Given the description of an element on the screen output the (x, y) to click on. 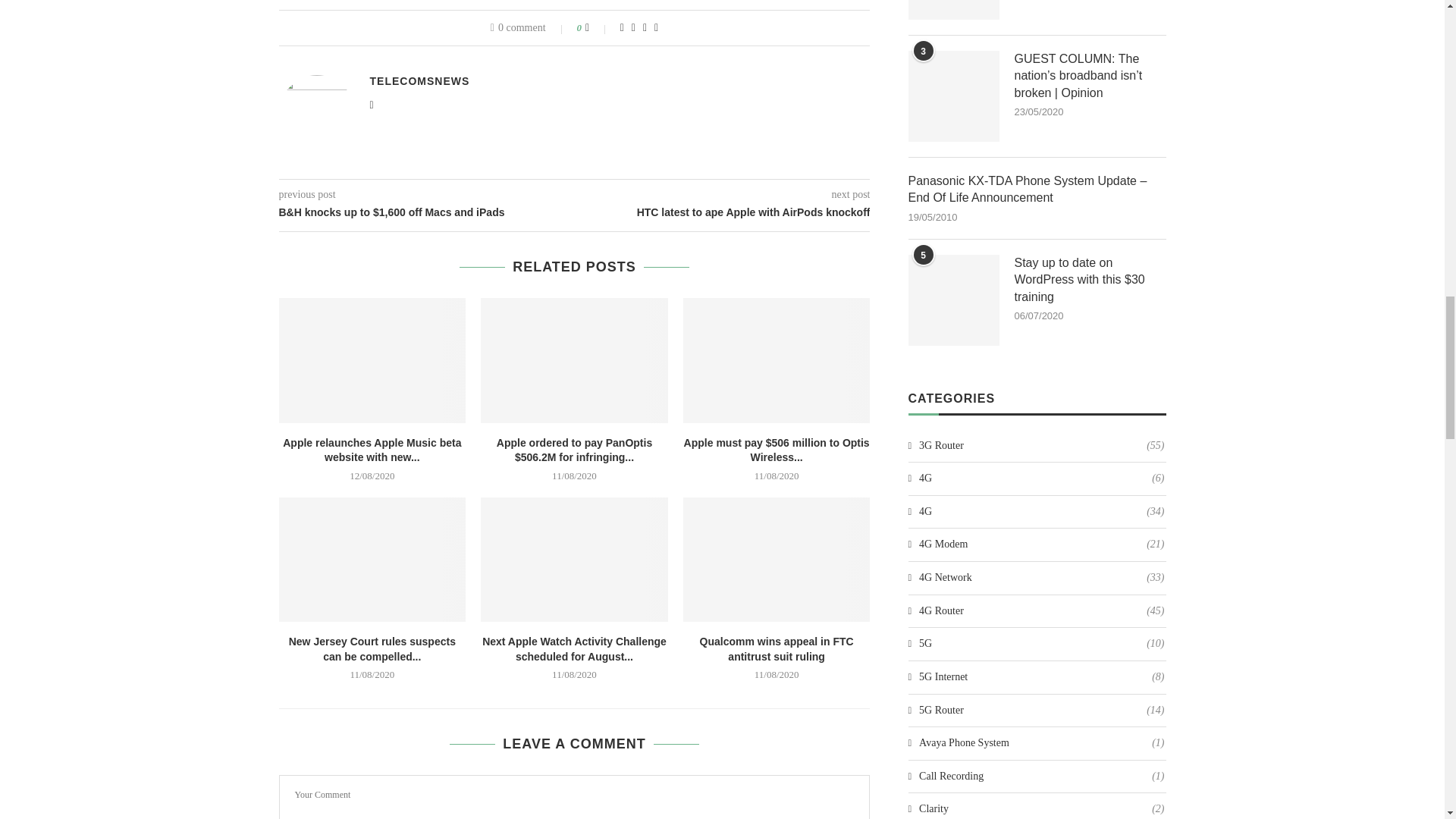
Like (597, 27)
Posts by telecomsnews (419, 80)
Qualcomm wins appeal in FTC antitrust suit ruling (776, 559)
